Given the description of an element on the screen output the (x, y) to click on. 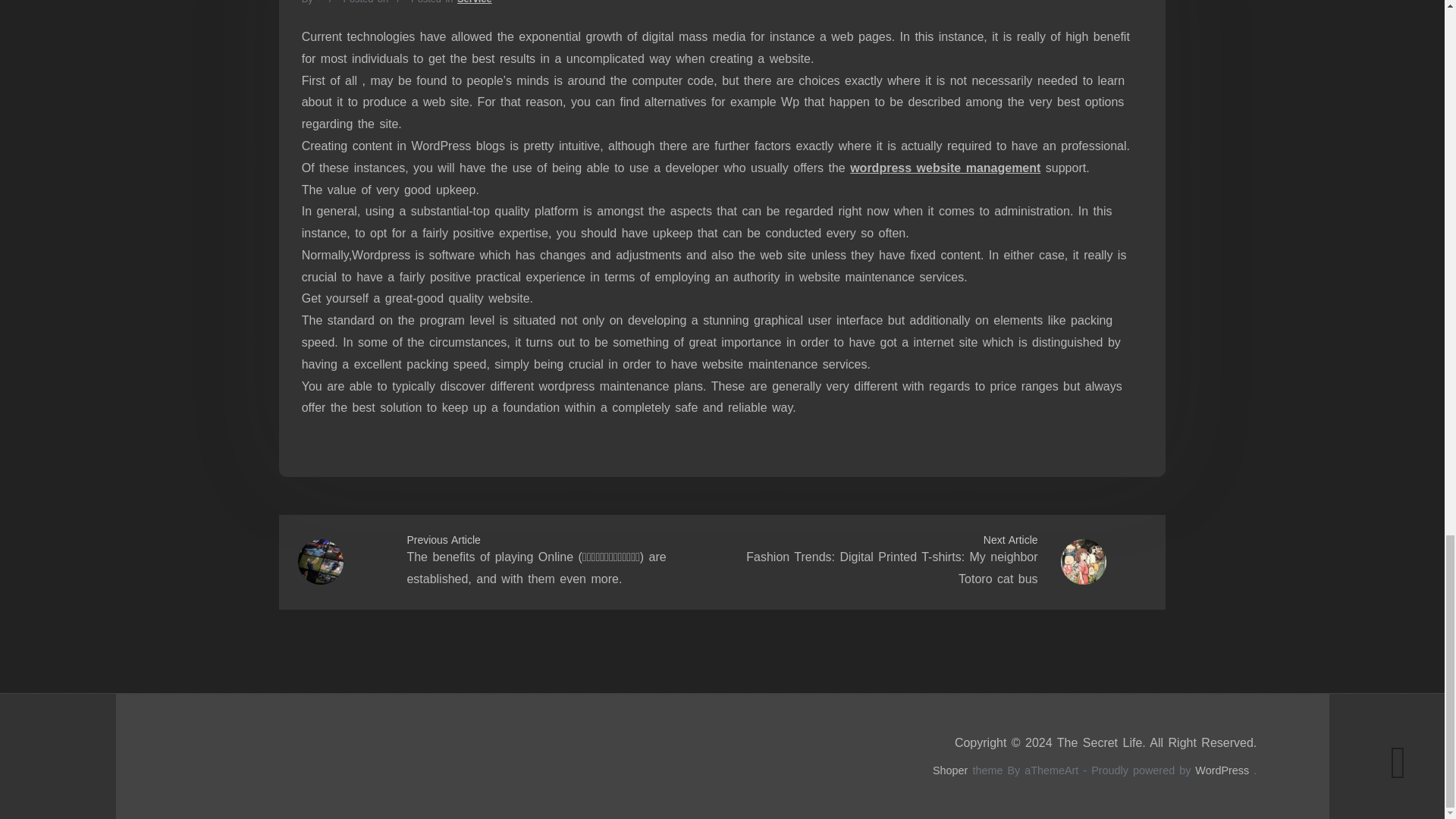
Service (474, 2)
wordpress website management (945, 167)
WordPress (1222, 770)
Shoper (950, 770)
